Given the description of an element on the screen output the (x, y) to click on. 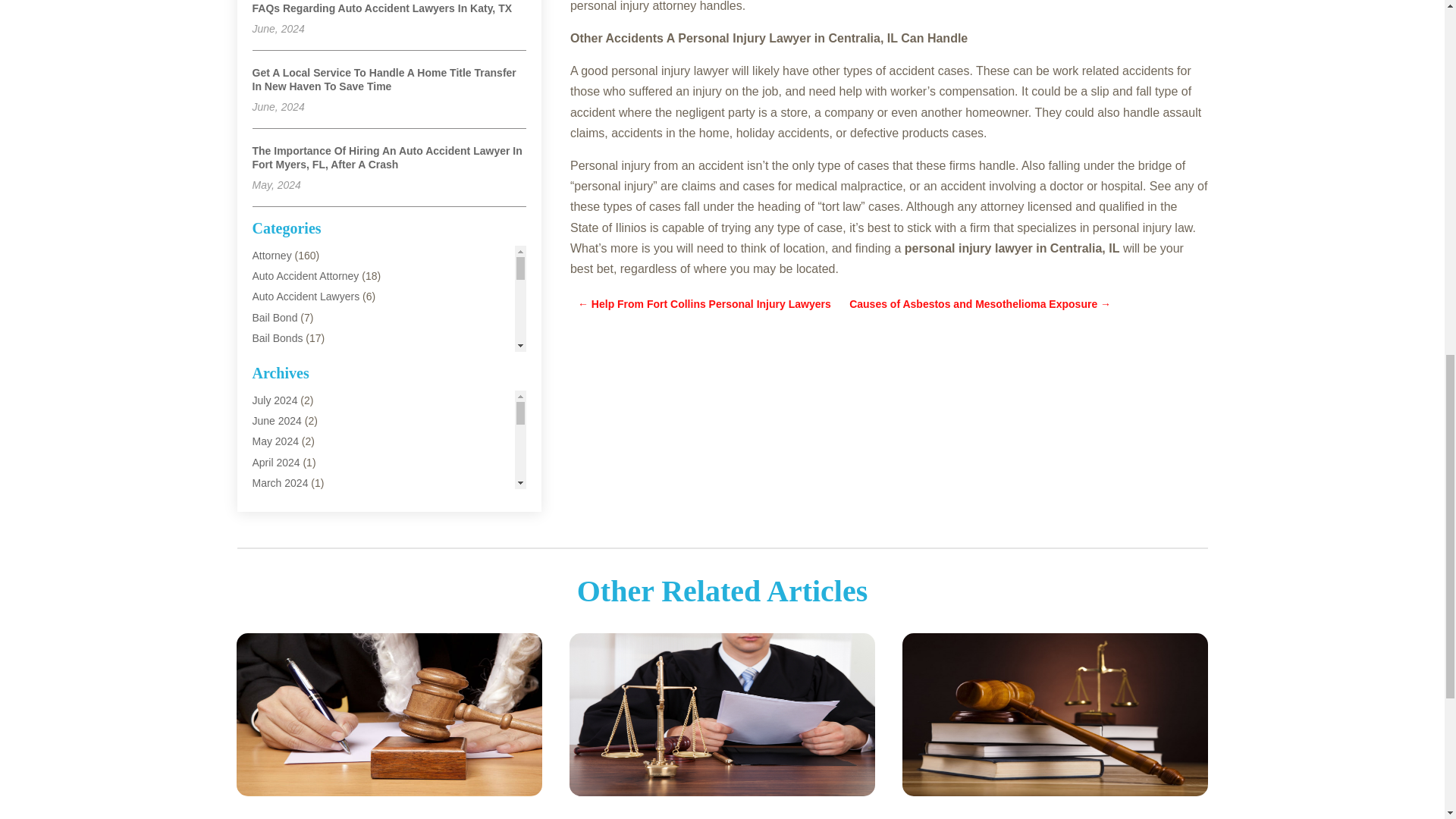
Attorney (271, 255)
Car Accident Attorney (302, 440)
Auto Accident Attorney (304, 275)
Bail Bond (274, 317)
Bankruptcy Attorney (298, 358)
Bonds (266, 399)
Divorce Lawyer (287, 544)
FAQs Regarding Auto Accident Lawyers In Katy, TX (381, 8)
Criminal Law (282, 502)
Criminal Justice Attorney (309, 481)
Business Attorney (293, 420)
Bankruptcy Law (289, 378)
Debt (263, 522)
